Given the description of an element on the screen output the (x, y) to click on. 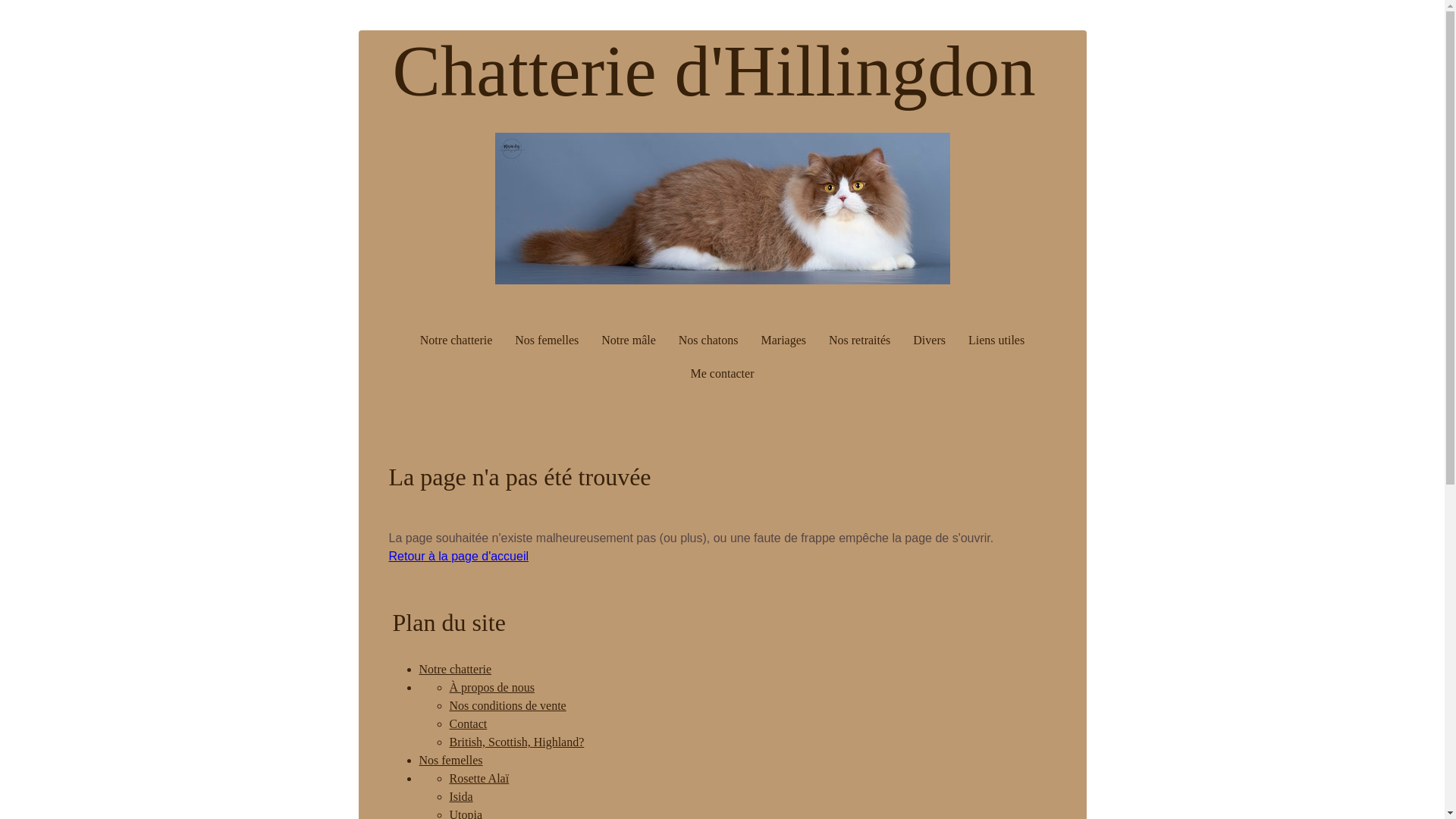
Me contacter Element type: text (722, 373)
Chatterie d'Hillingdon Element type: text (713, 90)
Mariages Element type: text (783, 340)
Liens utiles Element type: text (996, 340)
British, Scottish, Highland? Element type: text (515, 741)
Nos conditions de vente Element type: text (506, 705)
Notre chatterie Element type: text (456, 340)
Divers Element type: text (929, 340)
Isida Element type: text (460, 796)
Notre chatterie Element type: text (454, 668)
Nos femelles Element type: text (546, 340)
Contact Element type: text (467, 723)
Nos femelles Element type: text (450, 759)
Nos chatons Element type: text (708, 340)
